Given the description of an element on the screen output the (x, y) to click on. 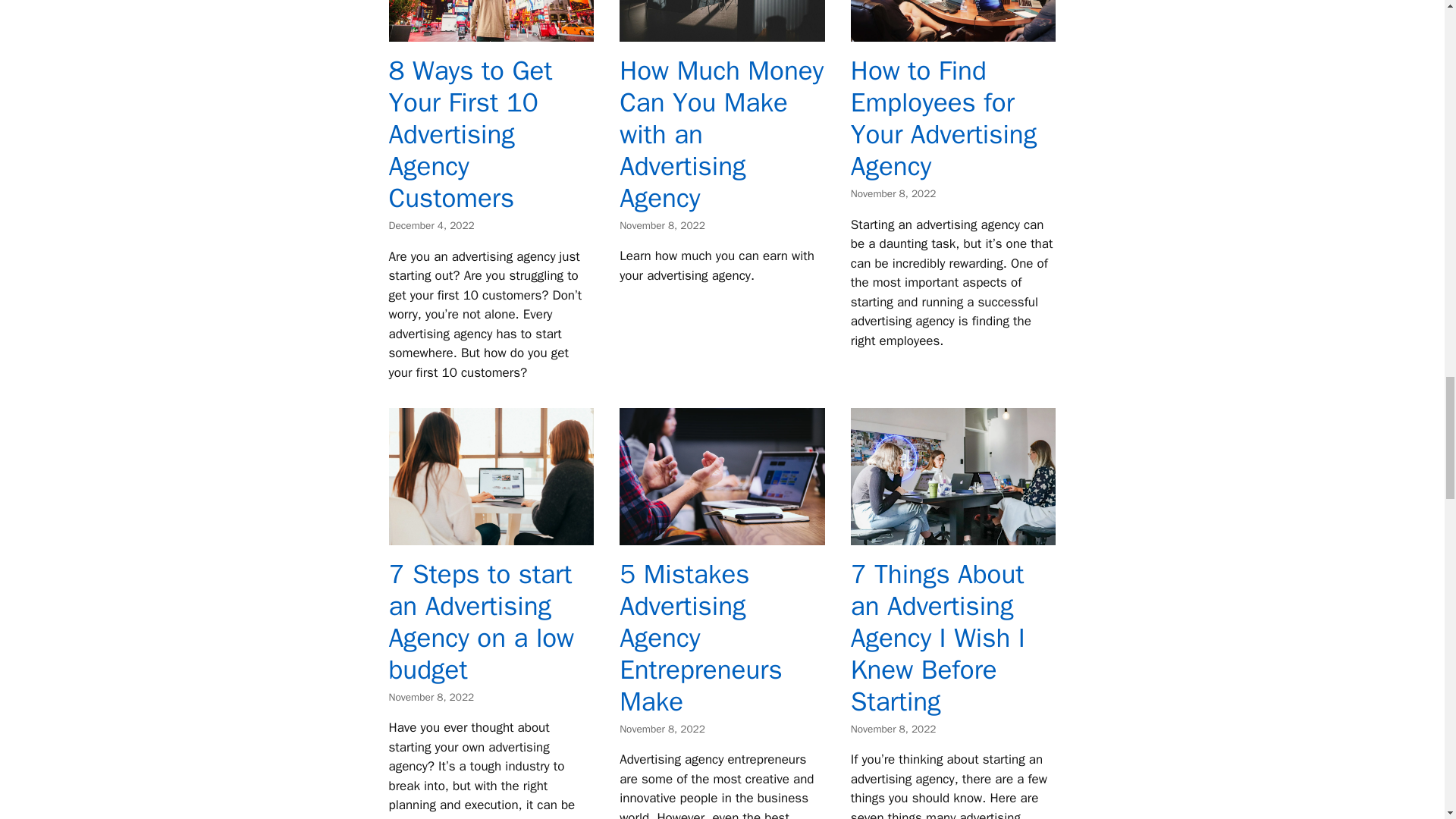
7 Steps to start an Advertising Agency on a low budget (480, 621)
7:25 pm (893, 193)
5 Mistakes Advertising Agency Entrepreneurs Make (701, 637)
November 8, 2022 (662, 728)
How to Find Employees for Your Advertising Agency (953, 32)
November 8, 2022 (893, 728)
5 Mistakes Advertising Agency Entrepreneurs Make (722, 534)
9:25 am (893, 728)
How to Find Employees for Your Advertising Agency (943, 118)
8 Ways to Get Your First 10 Advertising Agency Customers (469, 134)
3:53 pm (431, 697)
How Much Money Can You Make with an Advertising Agency (722, 32)
7 Steps to start an Advertising Agency on a low budget (491, 534)
How Much Money Can You Make with an Advertising Agency (722, 134)
